Given the description of an element on the screen output the (x, y) to click on. 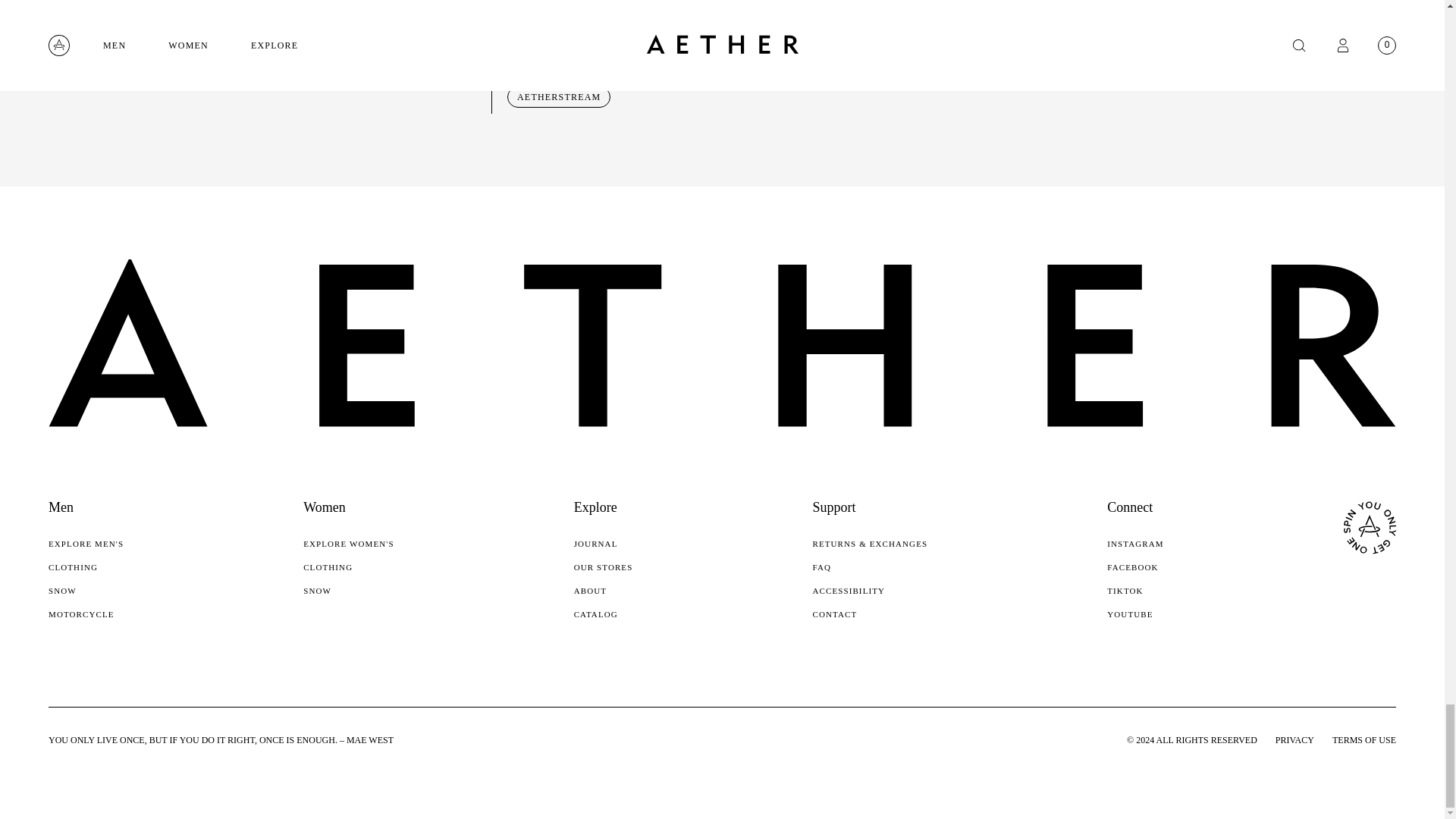
SAN FRANCISCO (558, 42)
ASPEN (533, 14)
NEW YORK CITY (558, 69)
AETHERSTREAM (558, 96)
